Given the description of an element on the screen output the (x, y) to click on. 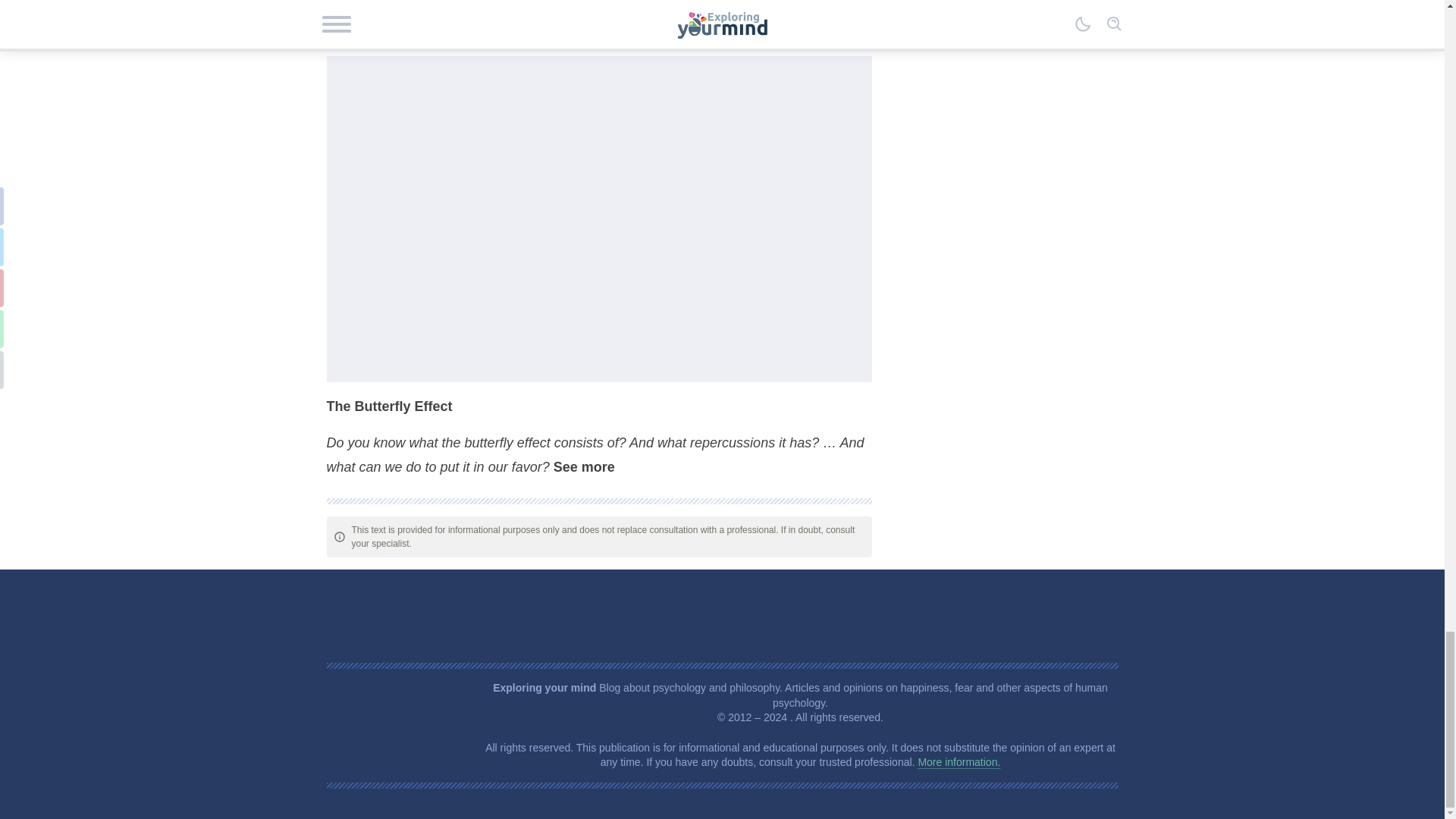
More information. (958, 762)
